Given the description of an element on the screen output the (x, y) to click on. 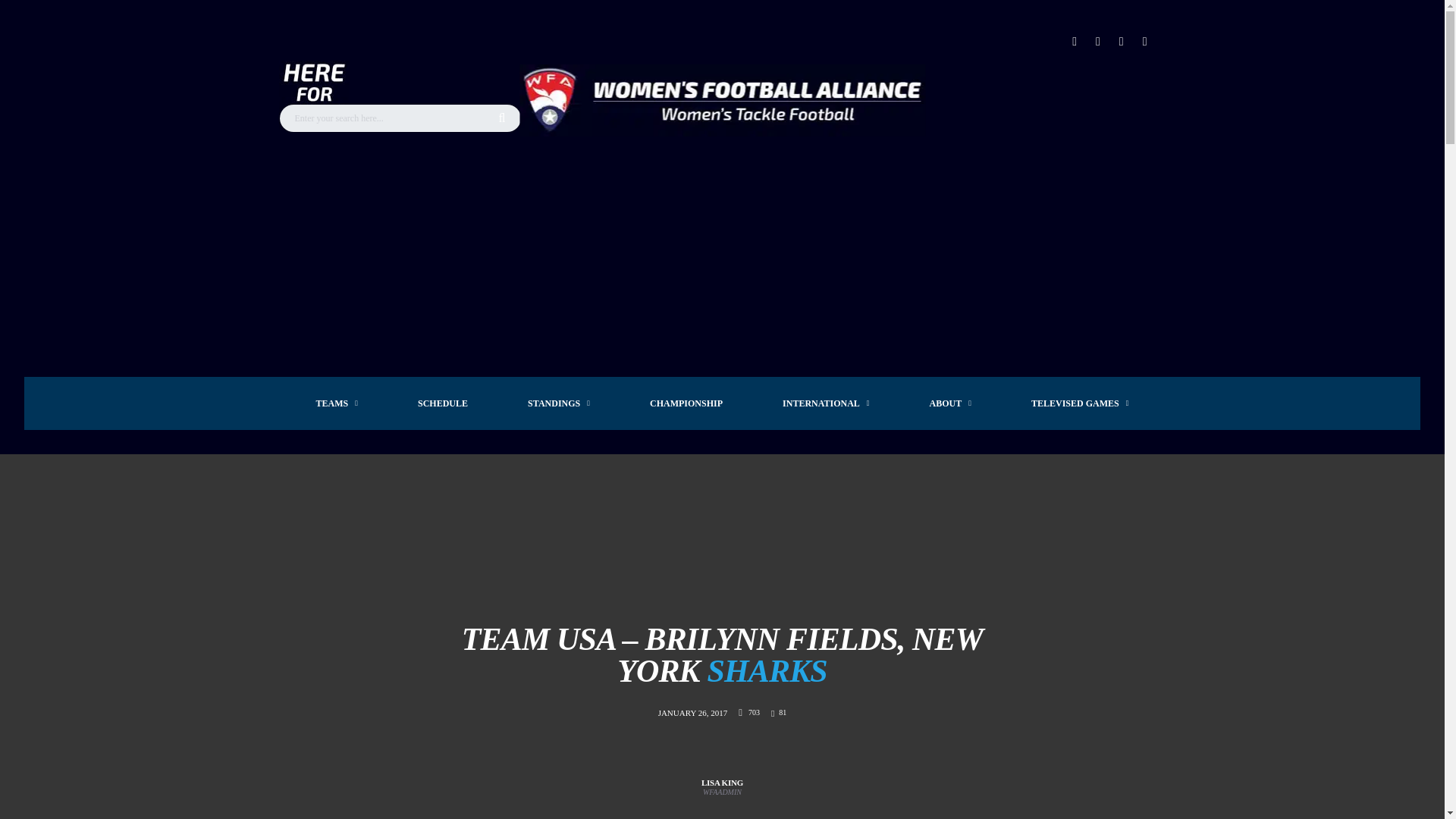
SCHEDULE (442, 402)
INTERNATIONAL (826, 402)
Like (778, 713)
STANDINGS (558, 402)
ABOUT (950, 402)
Women's Football Alliance (721, 100)
CHAMPIONSHIP (686, 402)
TEAMS (336, 402)
